Given the description of an element on the screen output the (x, y) to click on. 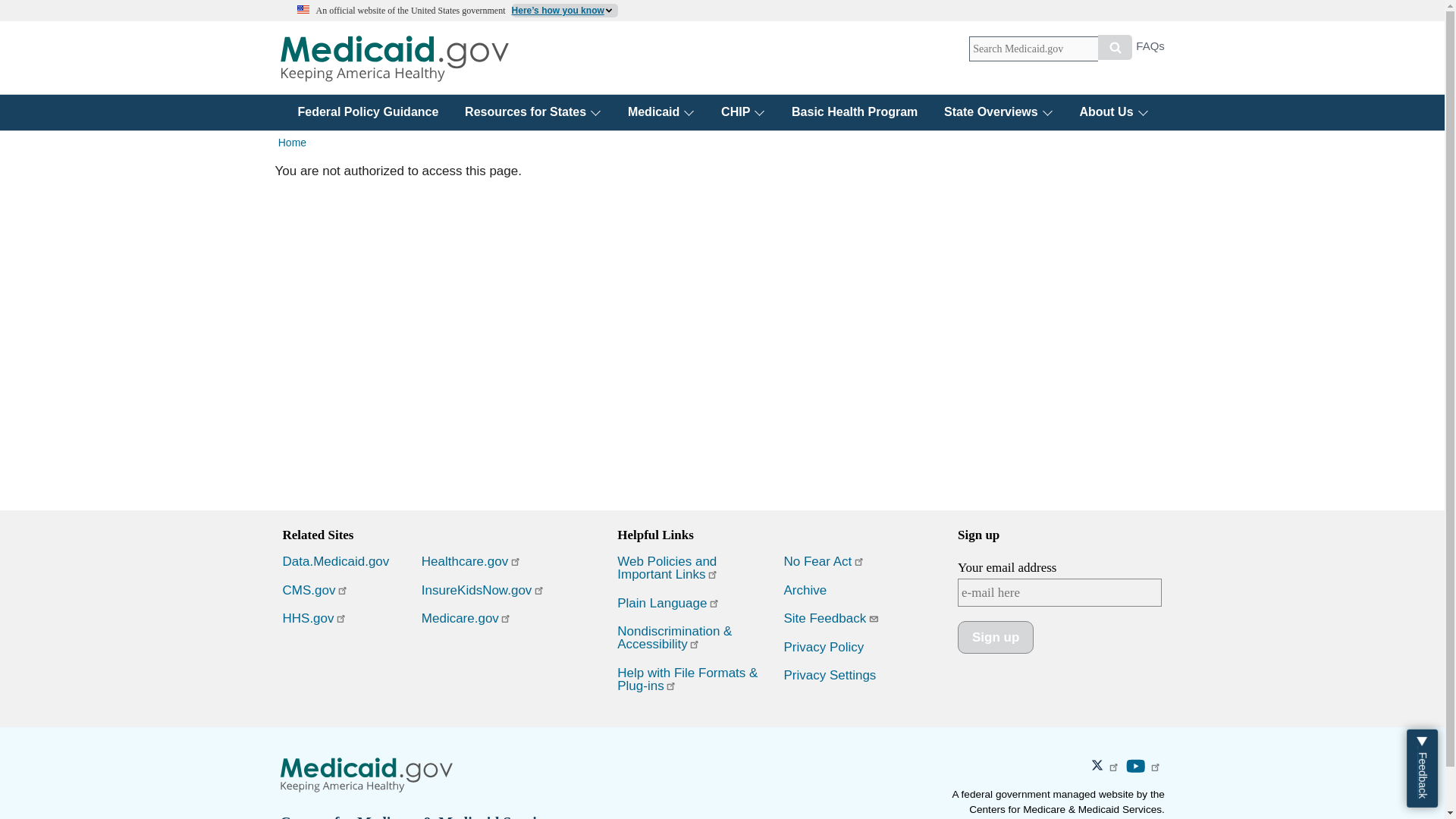
CMS YouTube - Opens in a new window (1144, 766)
CMS Twitter - Opens in a new window (1107, 766)
YouTube (1135, 765)
Home (393, 57)
YouTube (1135, 765)
Privacy settings (829, 675)
Skip to main content (721, 1)
FAQs (1149, 50)
